Given the description of an element on the screen output the (x, y) to click on. 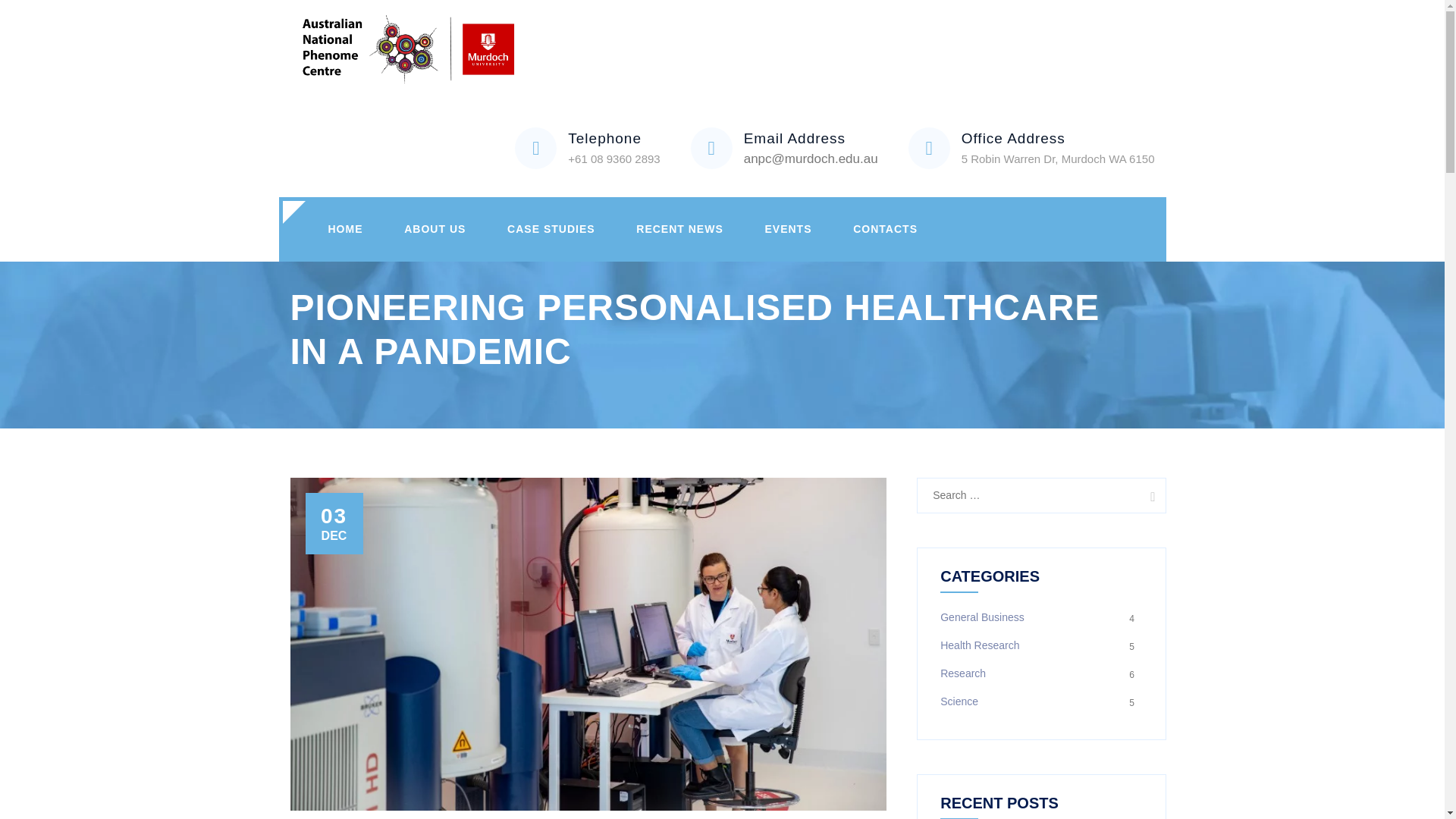
HOME (344, 229)
RECENT NEWS (679, 229)
General Business (982, 616)
Search (1148, 494)
ABOUT US (434, 229)
Research (962, 673)
EVENTS (787, 229)
CONTACTS (885, 229)
Science (959, 701)
Search (1148, 494)
CASE STUDIES (549, 229)
Search (1148, 494)
Health Research (979, 645)
